Given the description of an element on the screen output the (x, y) to click on. 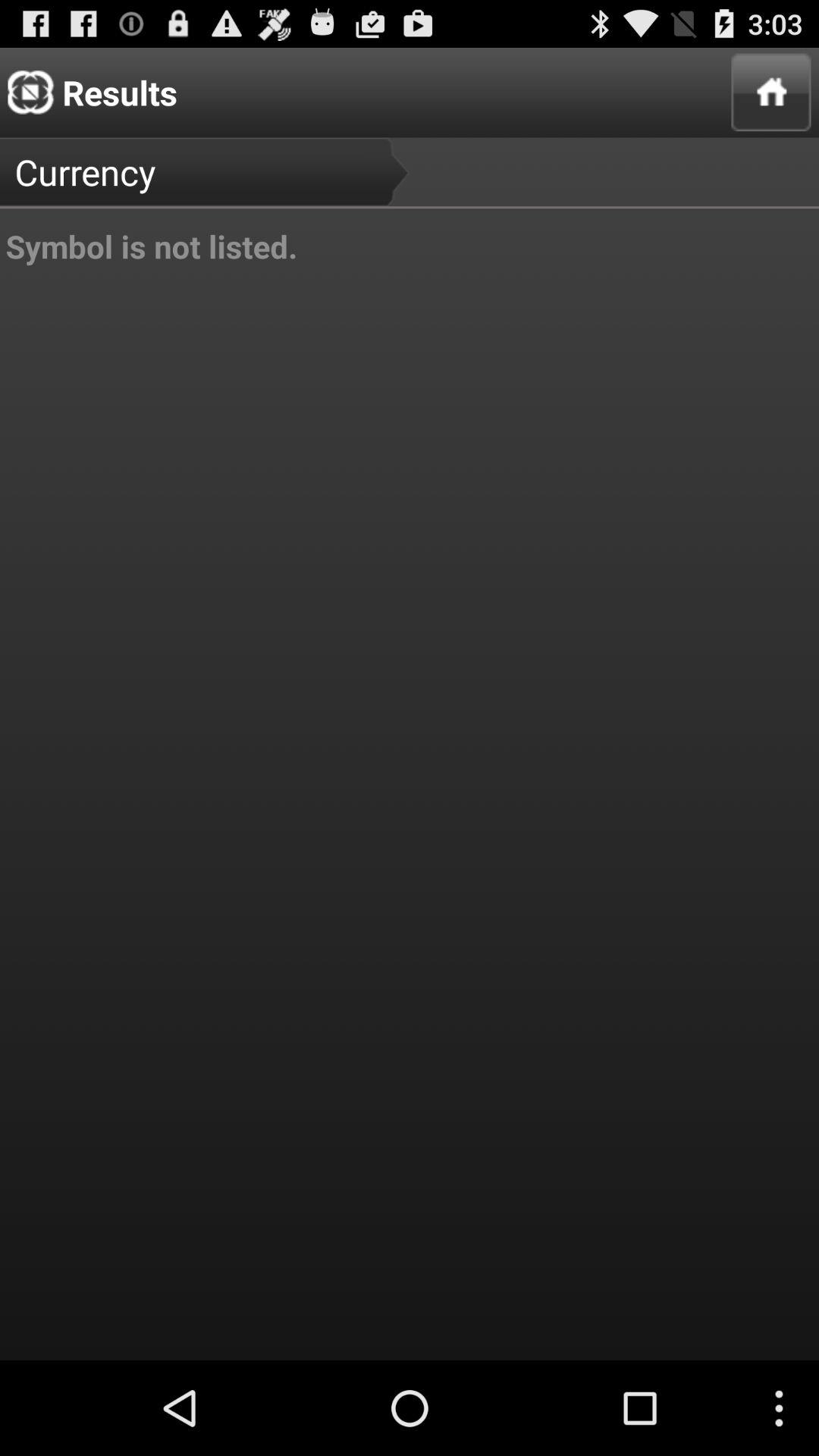
turn on icon at the top right corner (771, 92)
